Given the description of an element on the screen output the (x, y) to click on. 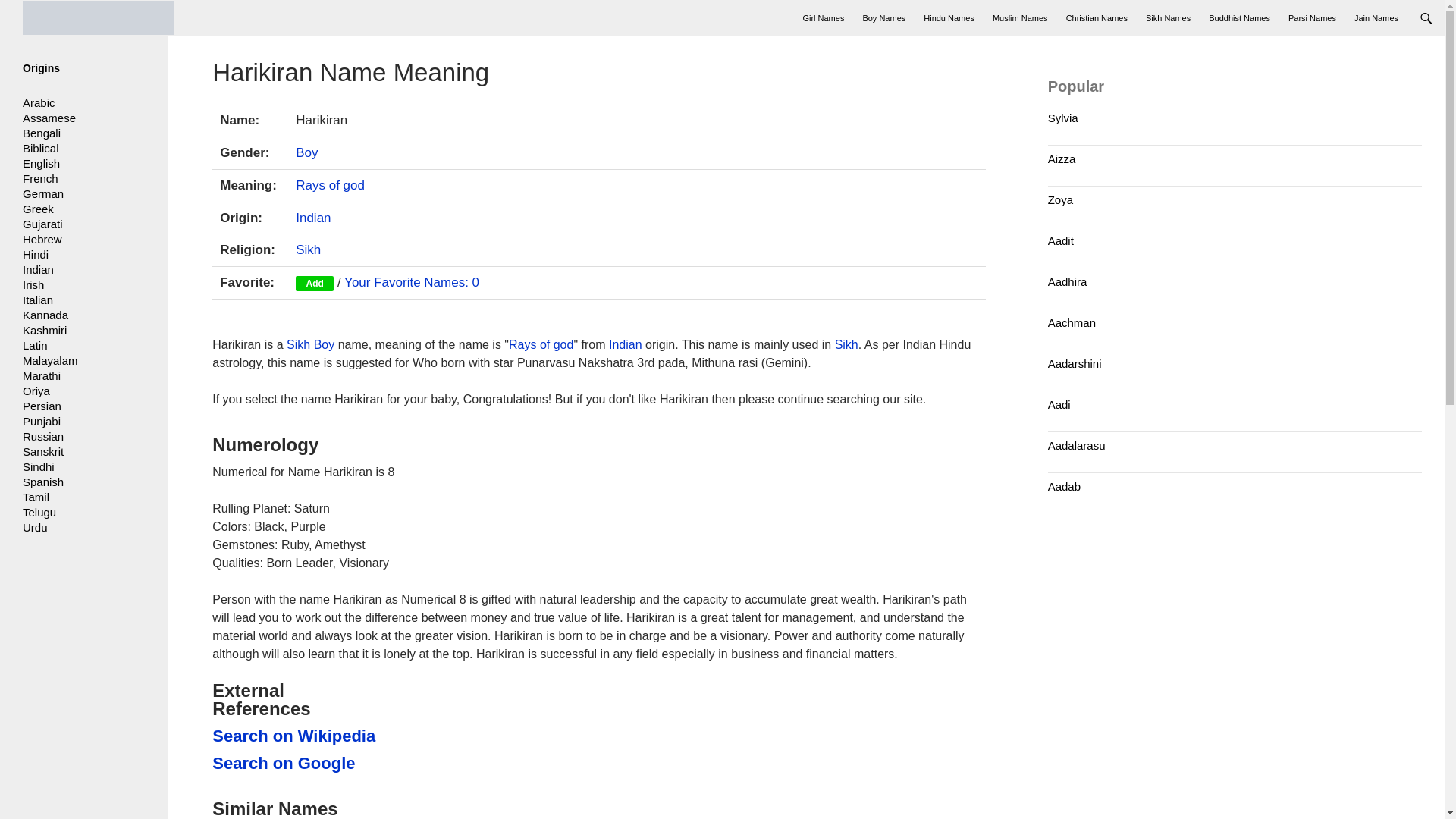
Buddhist Names (1239, 18)
Add (314, 283)
Search on Wikipedia (295, 736)
Sikh Names (1168, 18)
Boy (306, 152)
Muslim Names (1020, 18)
Sikh (846, 344)
Indian (625, 344)
Search on Google (295, 763)
Sikh (298, 344)
Rays of god (330, 185)
Sikh (307, 249)
Rays of god (540, 344)
Christian Names (1097, 18)
Boy Names (883, 18)
